Given the description of an element on the screen output the (x, y) to click on. 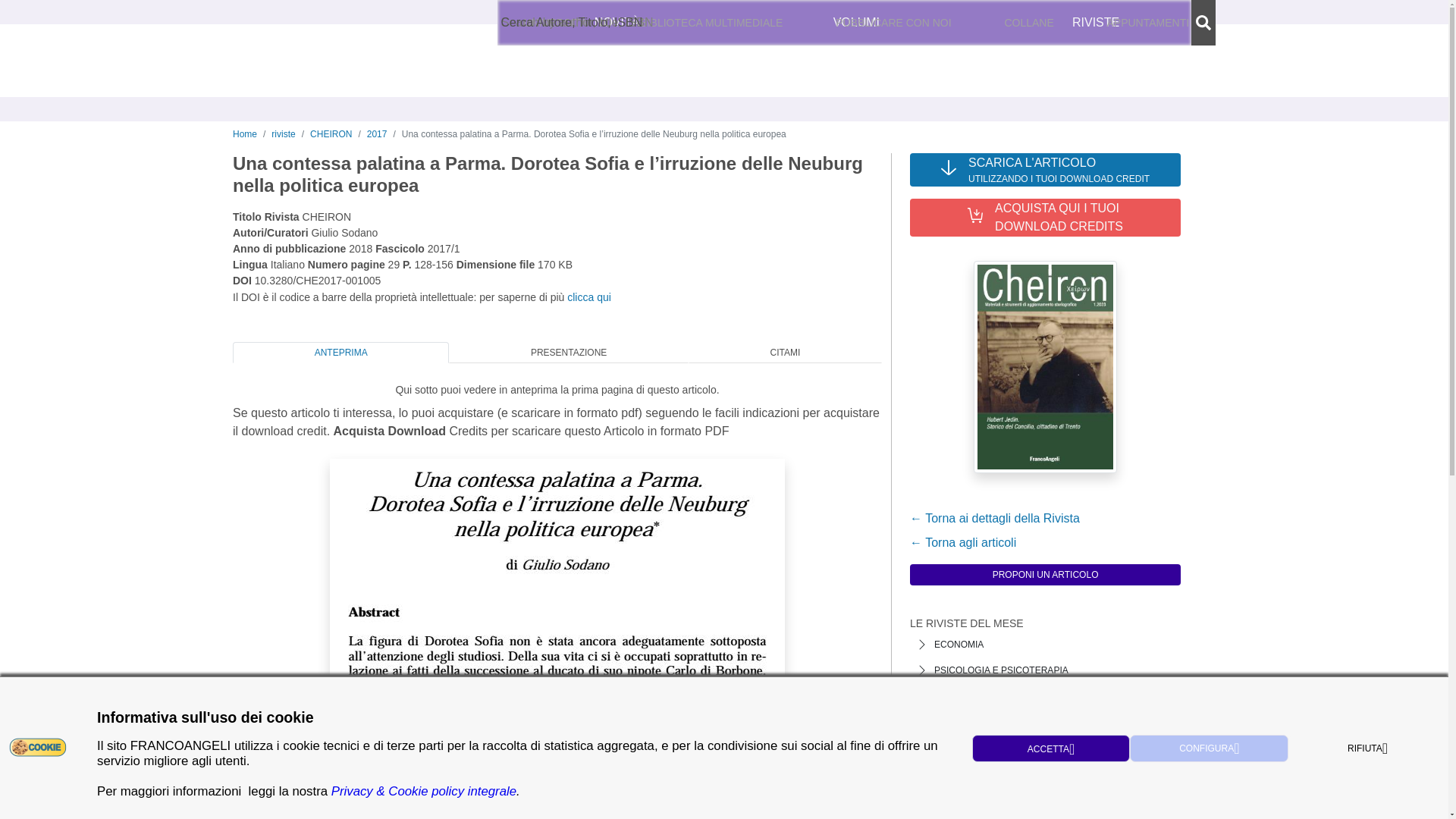
CookieMan BY ML informatica (37, 746)
COLLANE (1029, 22)
chi siamo (525, 23)
Carrello (1170, 22)
contatti (577, 23)
Ricerca Avanzata (567, 22)
BIBLIOTECA MULTIMEDIALE (711, 22)
aiuto (619, 23)
Accedi (997, 22)
APPUNTAMENTI (1147, 22)
